Given the description of an element on the screen output the (x, y) to click on. 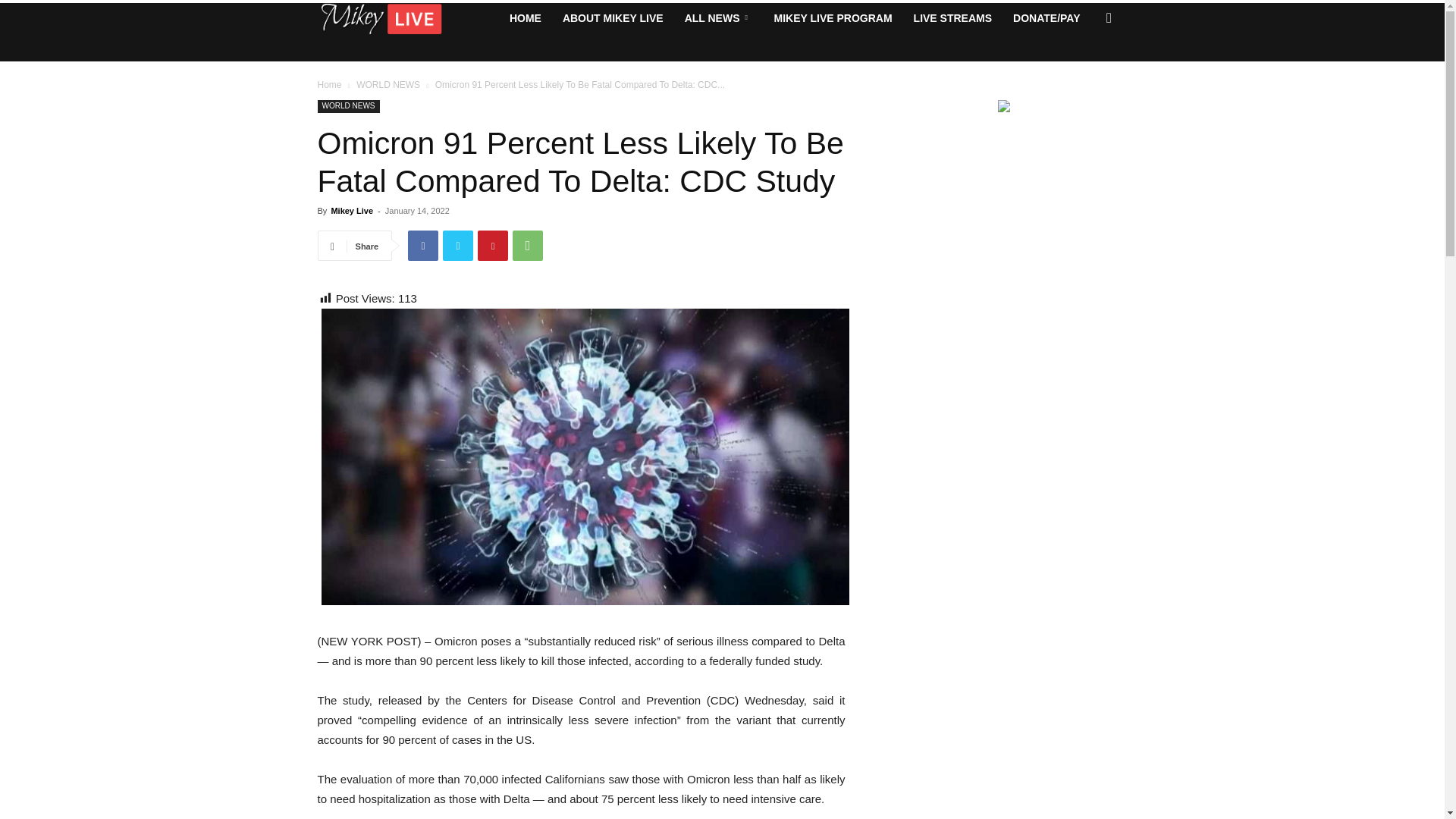
HOME (525, 18)
WhatsApp (527, 245)
View all posts in WORLD NEWS (388, 84)
Search (1085, 78)
Facebook (422, 245)
WORLD NEWS (347, 106)
Pinterest (492, 245)
Mikey Live (351, 210)
ALL NEWS (718, 18)
Twitter (457, 245)
MIKEY LIVE PROGRAM (832, 18)
ABOUT MIKEY LIVE (612, 18)
Home (328, 84)
LIVE STREAMS (952, 18)
WORLD NEWS (388, 84)
